Given the description of an element on the screen output the (x, y) to click on. 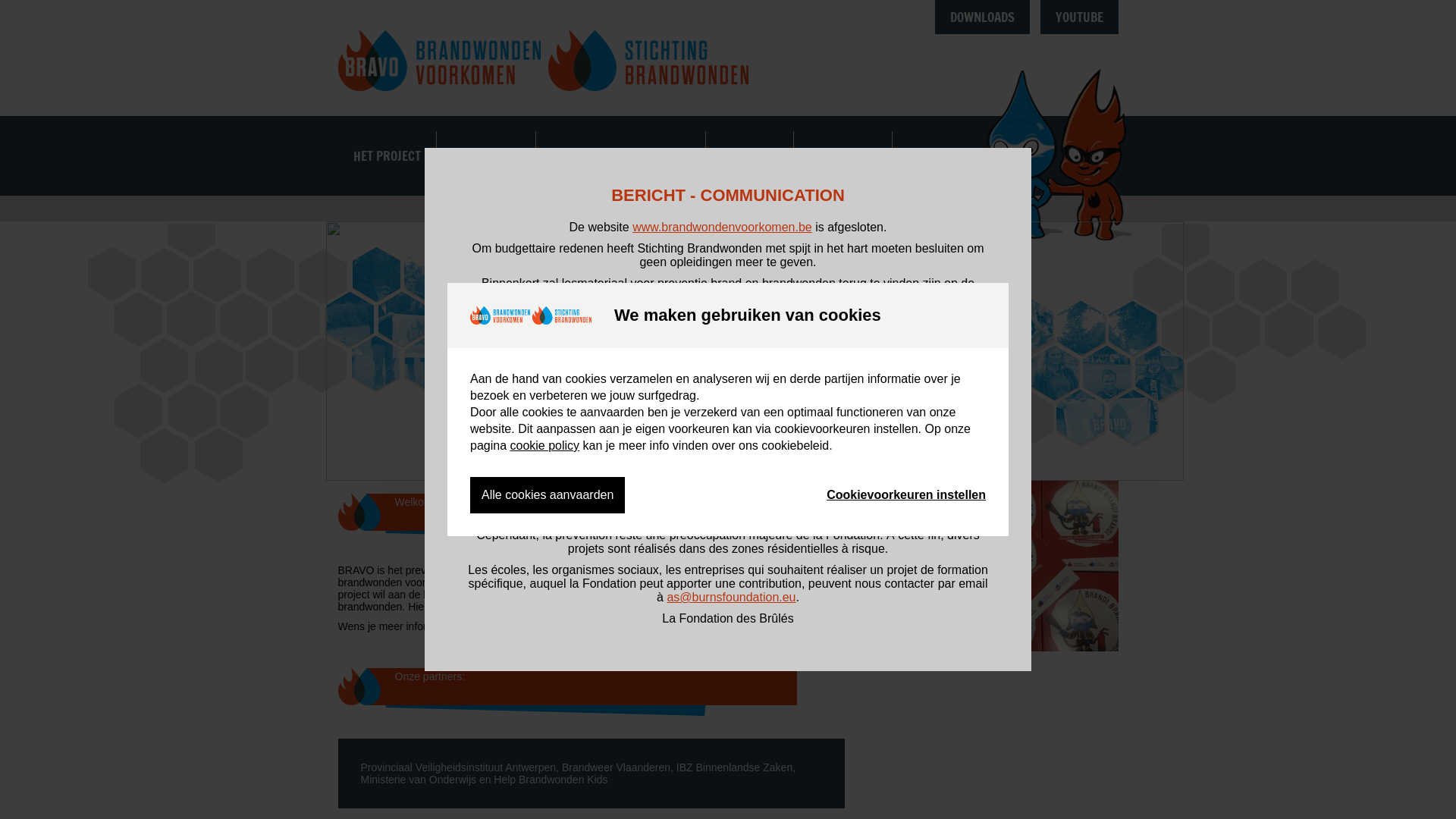
YOUTUBE Element type: text (1079, 17)
Alle cookies aanvaarden Element type: text (547, 494)
as@burnsfoundation.eu Element type: text (730, 596)
CONTACT Element type: text (930, 155)
STICHTING BRANDWONDEN Element type: text (619, 155)
www.brandwondenvoorkomen.be Element type: text (722, 226)
as@burnsfoundation.eu Element type: text (726, 379)
www.brulures.be Element type: text (811, 513)
PREVENTIE Element type: text (748, 155)
www.prevenirlesbrulures.be Element type: text (731, 443)
OPLEIDINGEN Element type: text (485, 155)
DOWNLOADS Element type: text (982, 17)
Cookievoorkeuren instellen Element type: text (905, 495)
cookie policy Element type: text (544, 445)
FOTOGALERIJ Element type: text (842, 155)
www.brandwonden.be Element type: text (823, 296)
HET PROJECT Element type: text (387, 155)
